Given the description of an element on the screen output the (x, y) to click on. 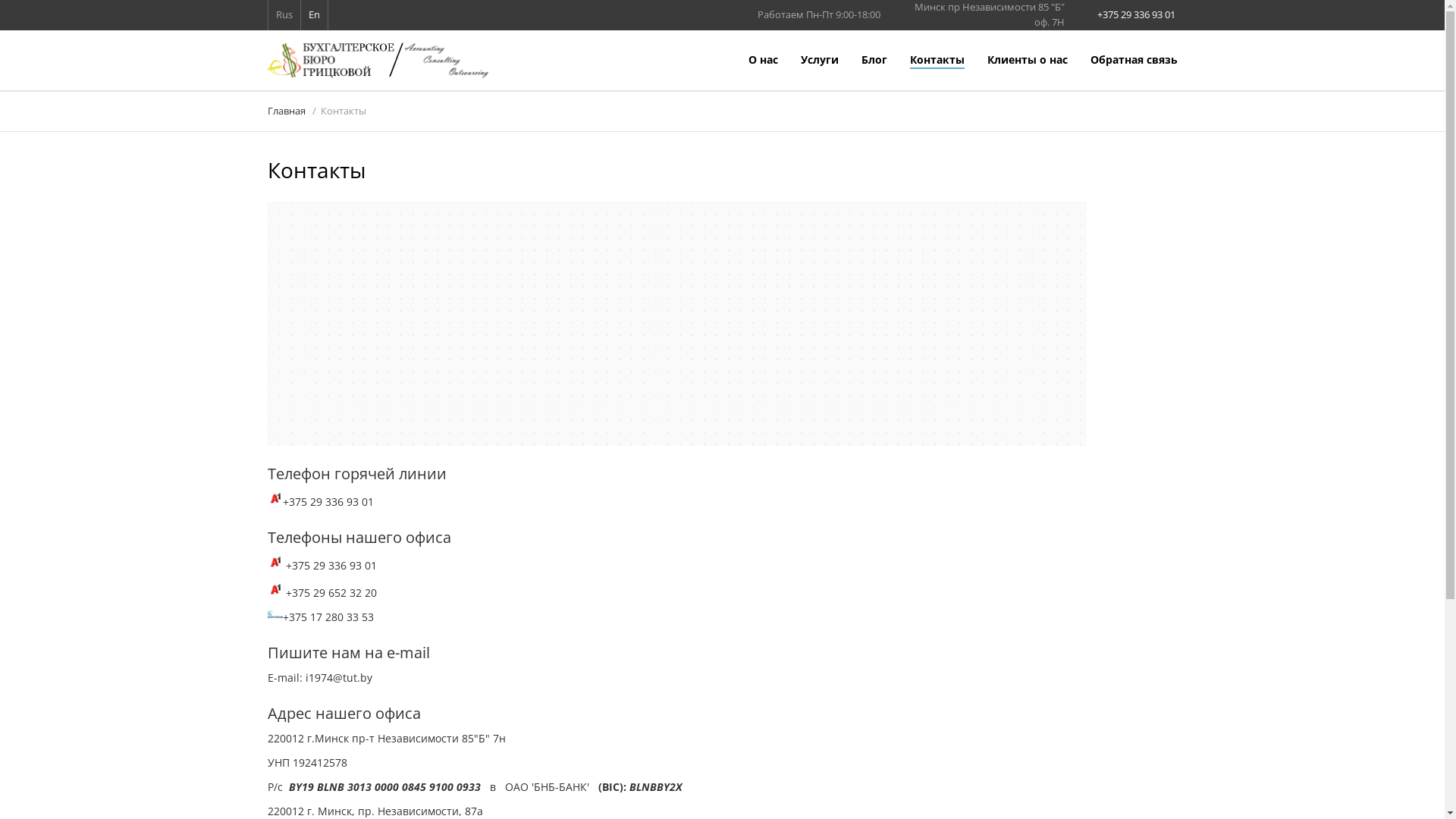
En Element type: text (313, 14)
